Given the description of an element on the screen output the (x, y) to click on. 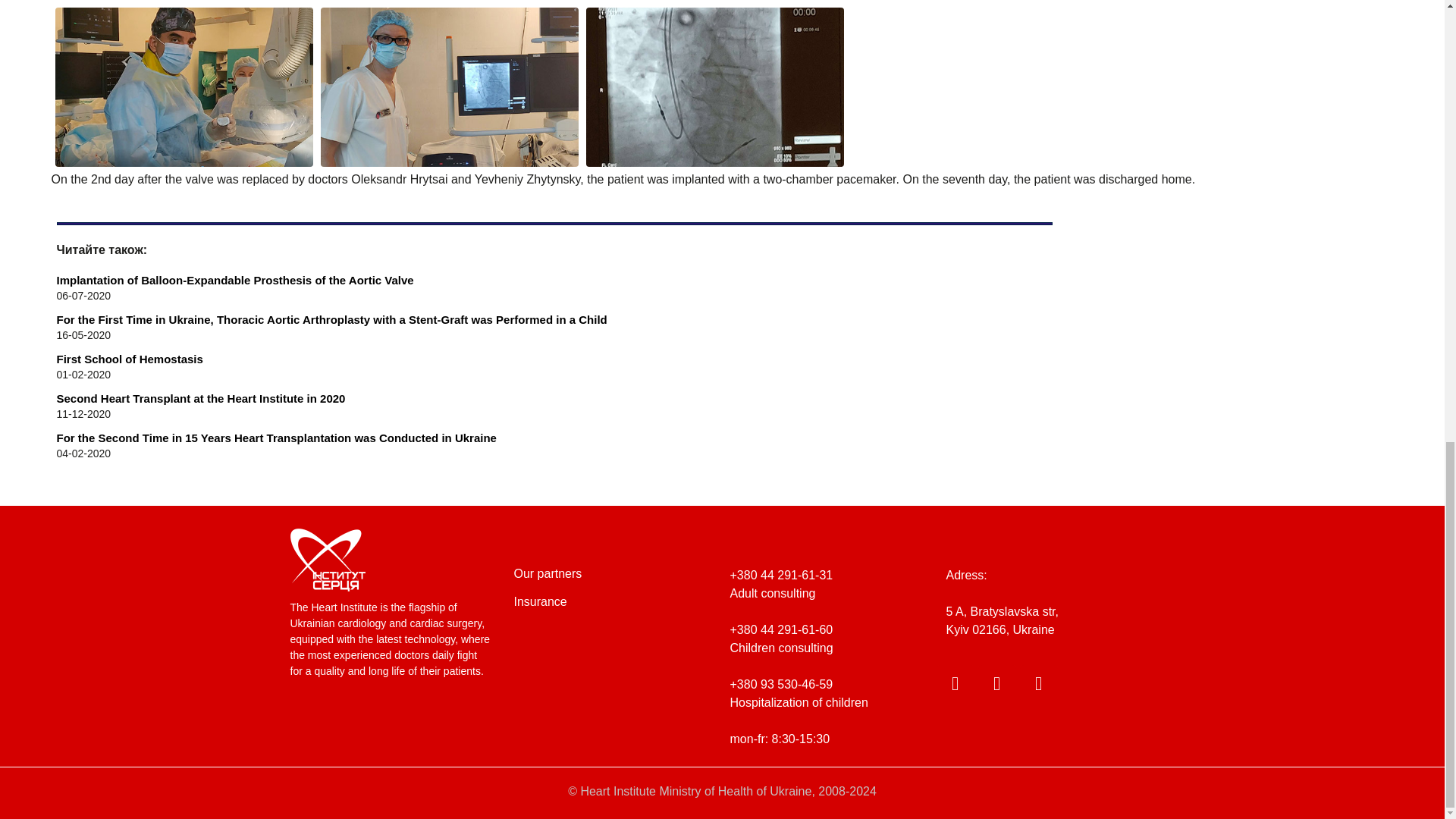
Second Heart Transplant at the Heart Institute in 2020 (554, 398)
First School of Hemostasis (554, 358)
